Given the description of an element on the screen output the (x, y) to click on. 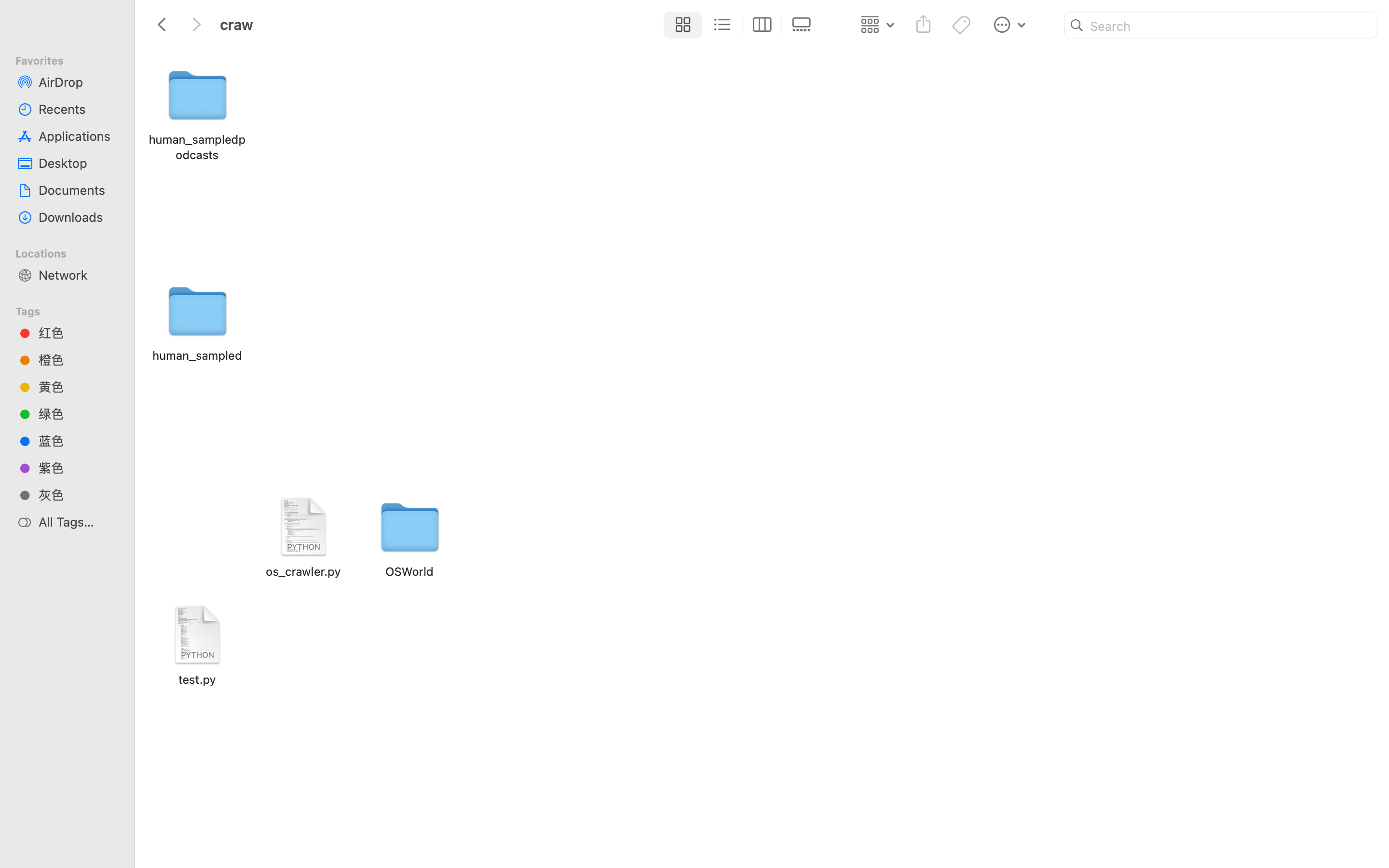
craw Element type: AXStaticText (437, 827)
Applications Element type: AXStaticText (77, 135)
Desktop Element type: AXStaticText (77, 162)
Downloads Element type: AXStaticText (77, 216)
蓝色 Element type: AXStaticText (77, 440)
